Given the description of an element on the screen output the (x, y) to click on. 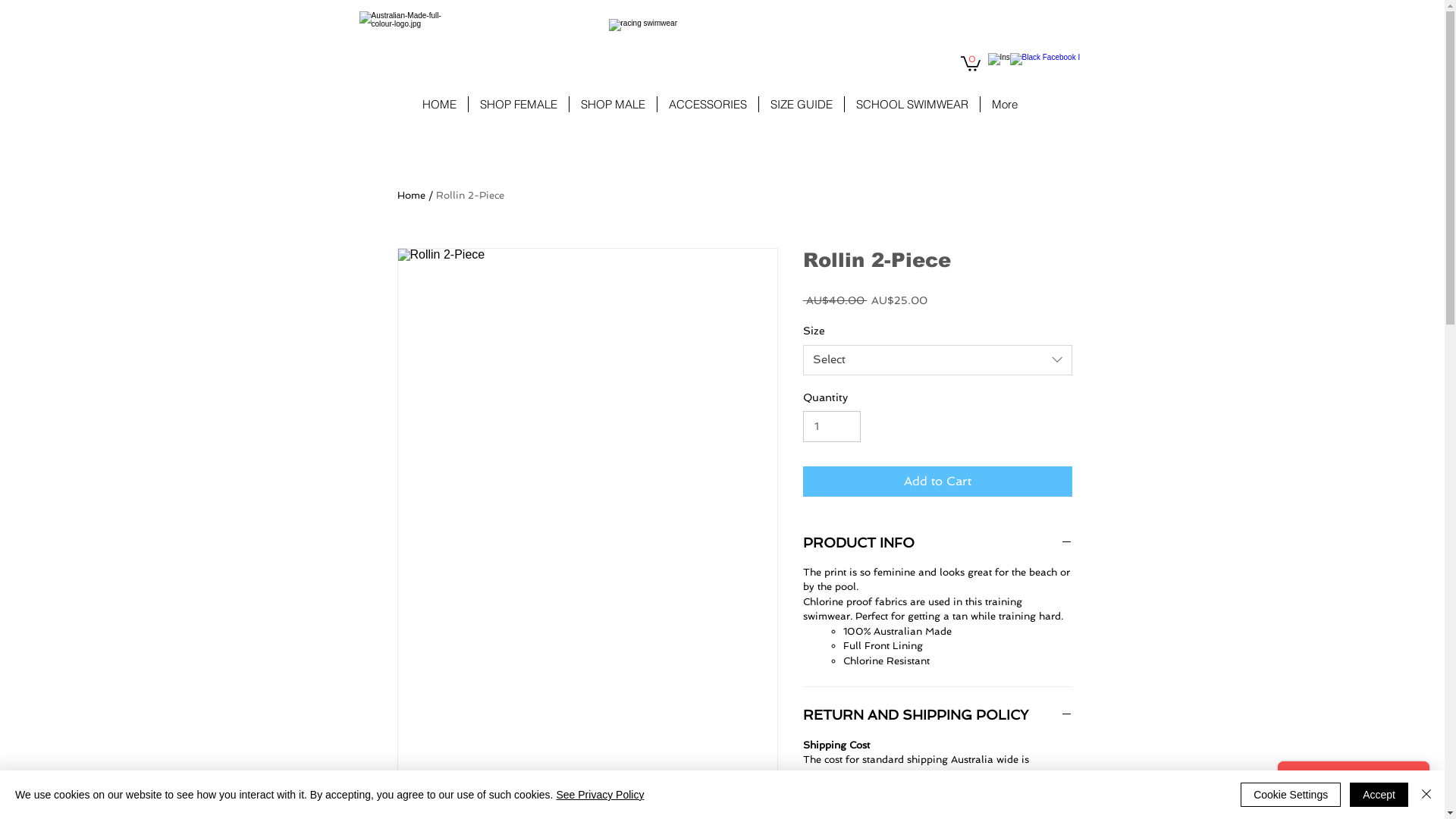
Accept Element type: text (1378, 794)
Rollin 2-Piece Element type: text (469, 194)
Cookie Settings Element type: text (1290, 794)
Add to Cart Element type: text (936, 481)
SIZE GUIDE Element type: text (800, 104)
Select Element type: text (936, 360)
Home Element type: text (411, 194)
ACCESSORIES Element type: text (706, 104)
HOME Element type: text (439, 104)
RETURN AND SHIPPING POLICY Element type: text (936, 714)
SCHOOL SWIMWEAR Element type: text (911, 104)
0 Element type: text (969, 62)
See Privacy Policy Element type: text (599, 794)
PRODUCT INFO Element type: text (936, 542)
